Given the description of an element on the screen output the (x, y) to click on. 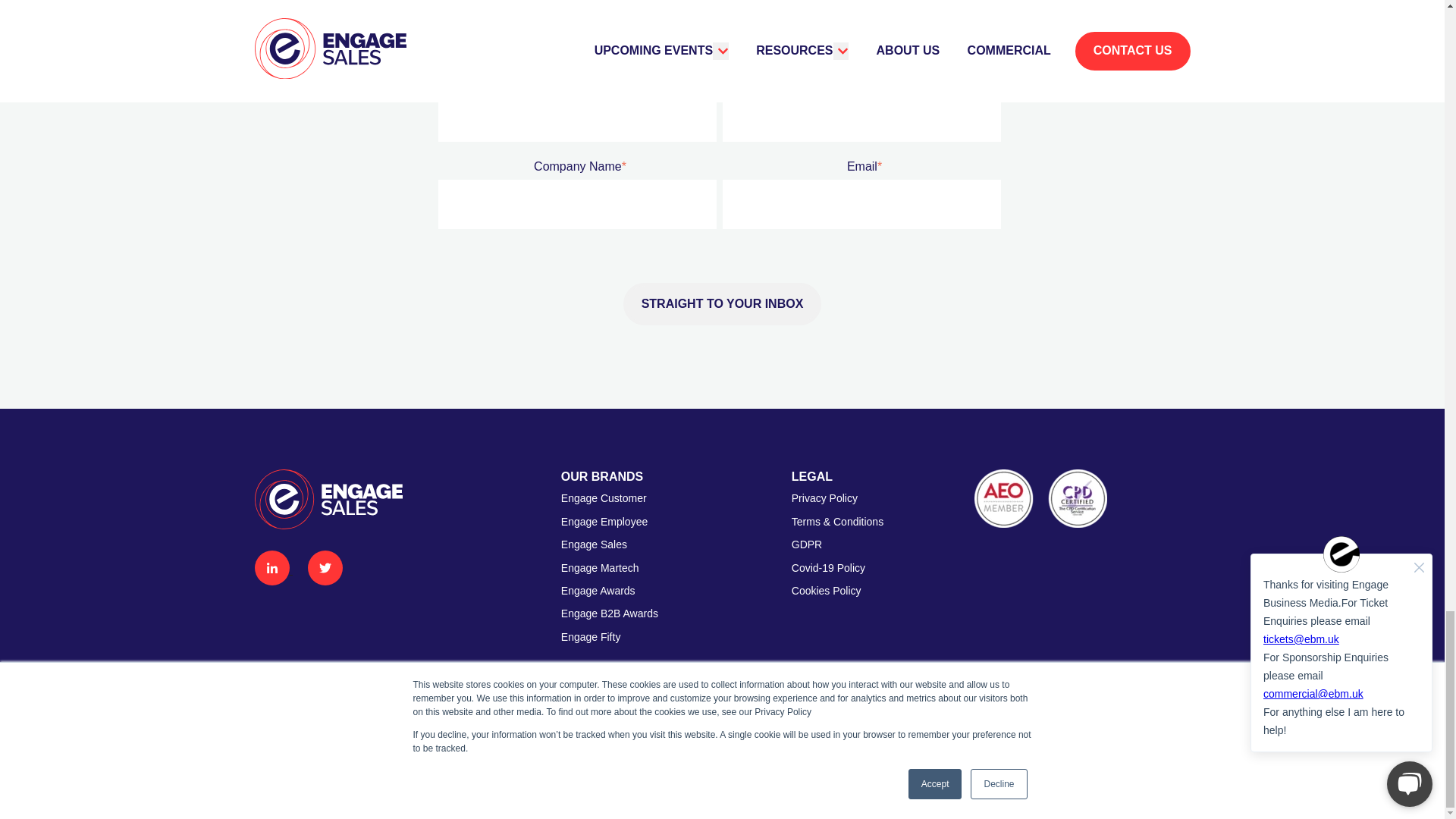
STRAIGHT TO YOUR INBOX (722, 303)
engage-business-media (1121, 760)
engage-sales-logo (328, 498)
